Given the description of an element on the screen output the (x, y) to click on. 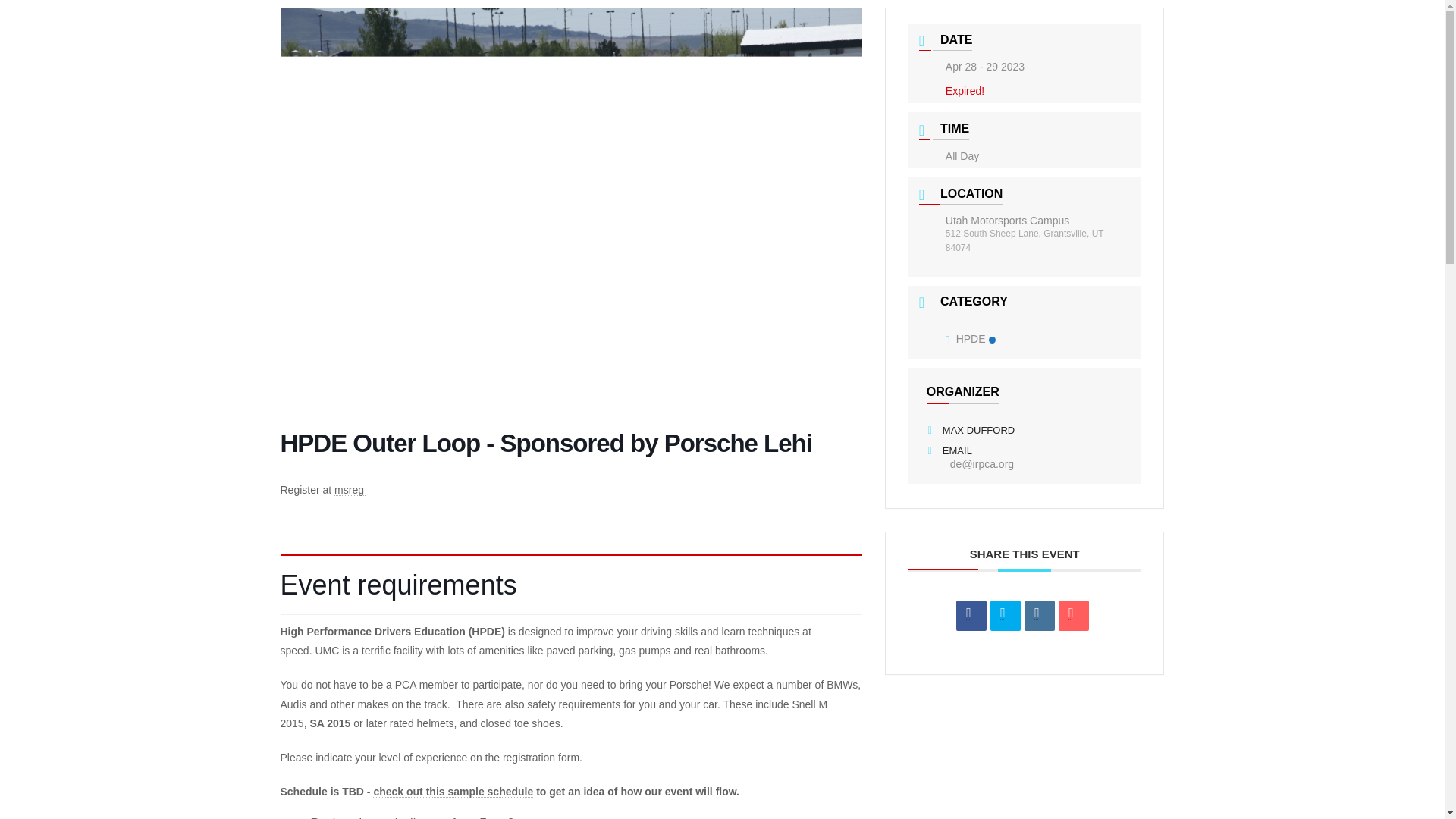
Email (1073, 615)
Share on Facebook (971, 615)
msreg  (350, 490)
HPDE  (969, 338)
Tweet (1005, 615)
Linkedin (1039, 615)
check out this sample schedule (452, 791)
